Given the description of an element on the screen output the (x, y) to click on. 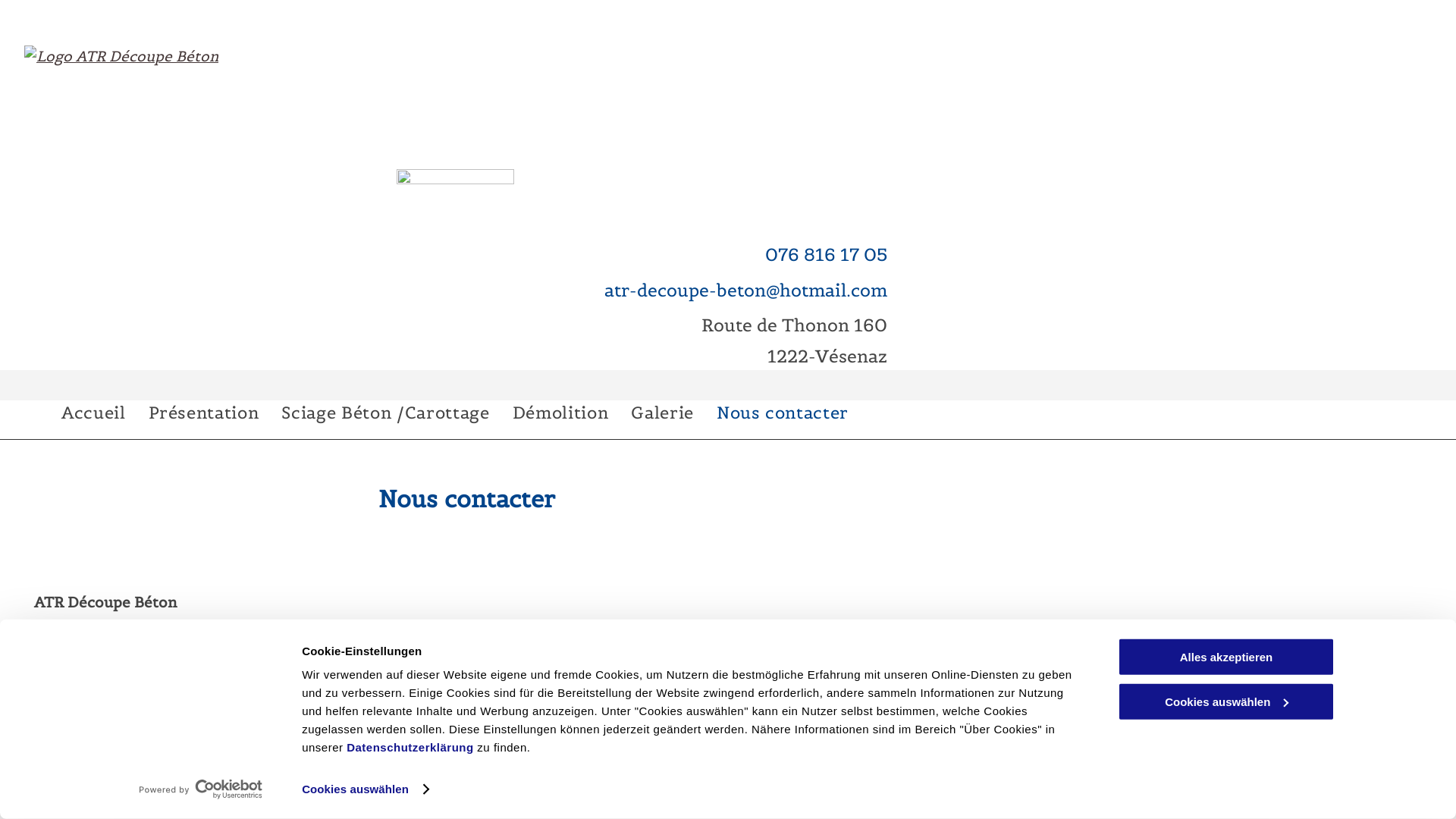
Galerie Element type: text (662, 412)
Accueil Element type: text (93, 412)
076 816 17 05 Element type: text (826, 254)
atr-decoupe-beton@hotmail.com Element type: text (745, 290)
076 816 17 05 Element type: text (84, 705)
atr-decoupe-beton@hotmail.com Element type: text (151, 731)
Nous contacter Element type: text (782, 412)
Route de Thonon 160 Element type: text (794, 324)
Alles akzeptieren Element type: text (1225, 656)
